Given the description of an element on the screen output the (x, y) to click on. 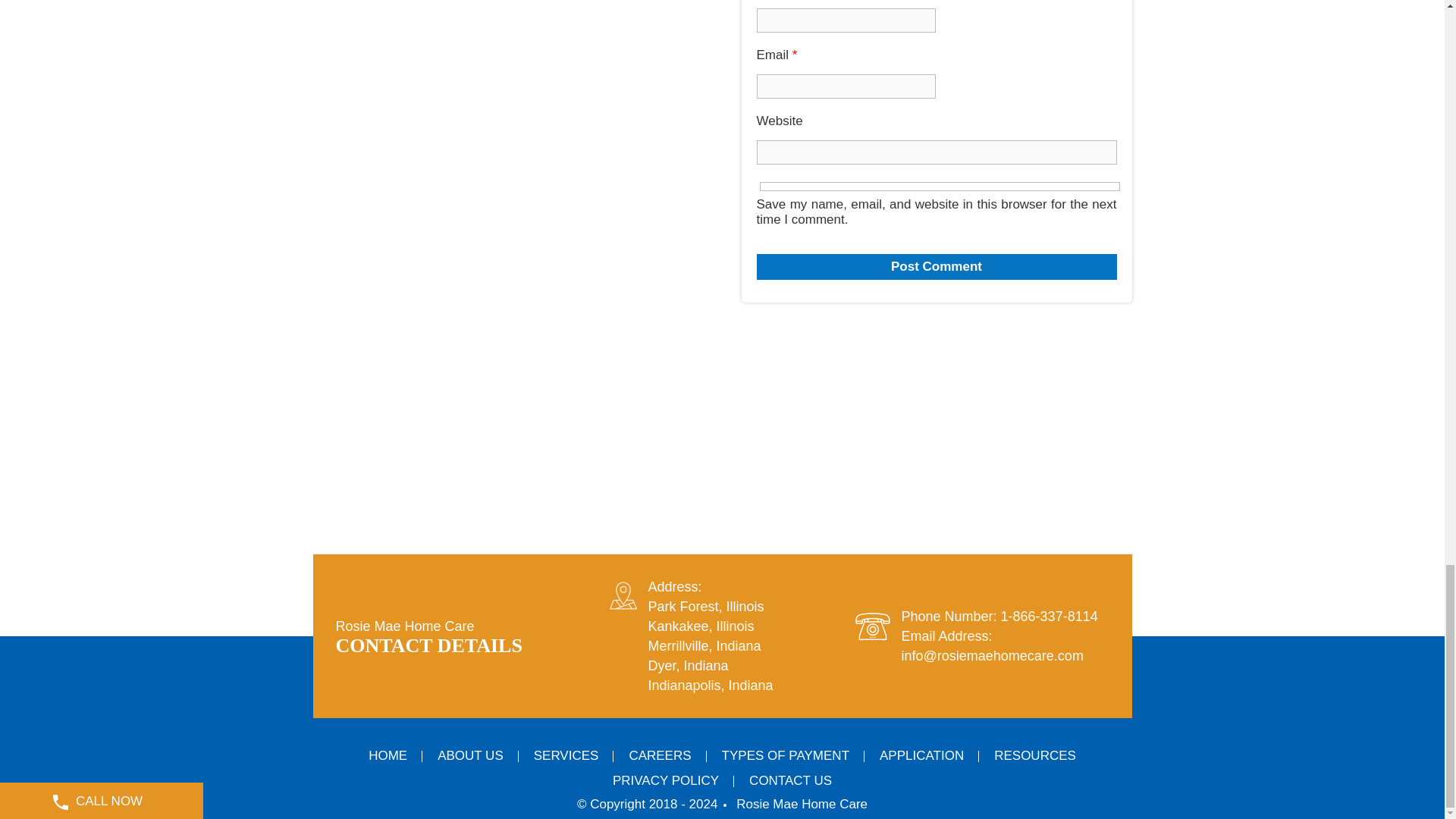
CONTACT US (790, 780)
HOME (387, 755)
APPLICATION (921, 755)
ABOUT US (470, 755)
RESOURCES (1034, 755)
CAREERS (659, 755)
PRIVACY POLICY (664, 780)
Post Comment (936, 266)
yes (939, 185)
TYPES OF PAYMENT (785, 755)
Post Comment (936, 266)
SERVICES (566, 755)
